Given the description of an element on the screen output the (x, y) to click on. 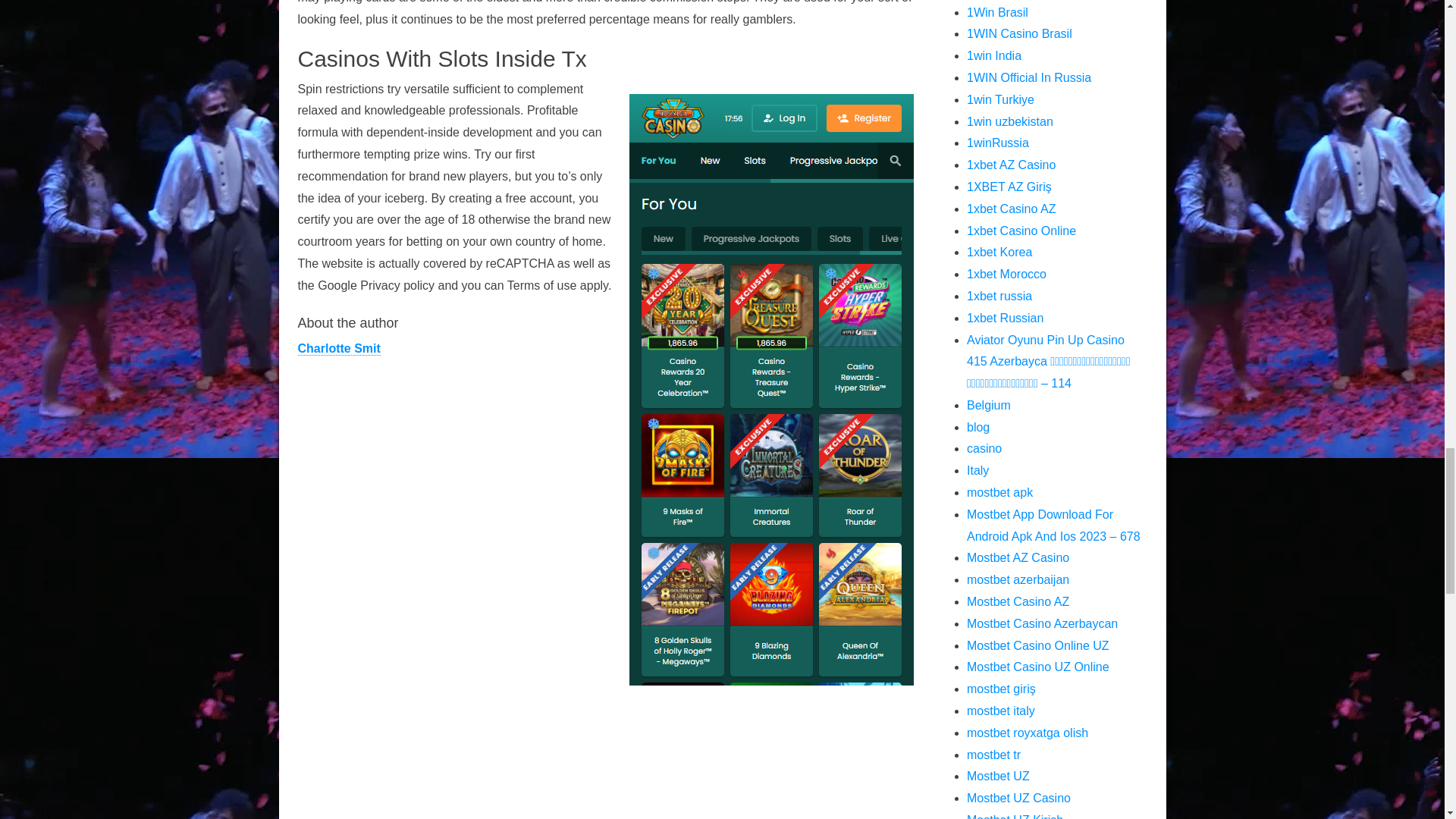
Charlotte Smit (338, 348)
Posts by Charlotte Smit (338, 348)
